Given the description of an element on the screen output the (x, y) to click on. 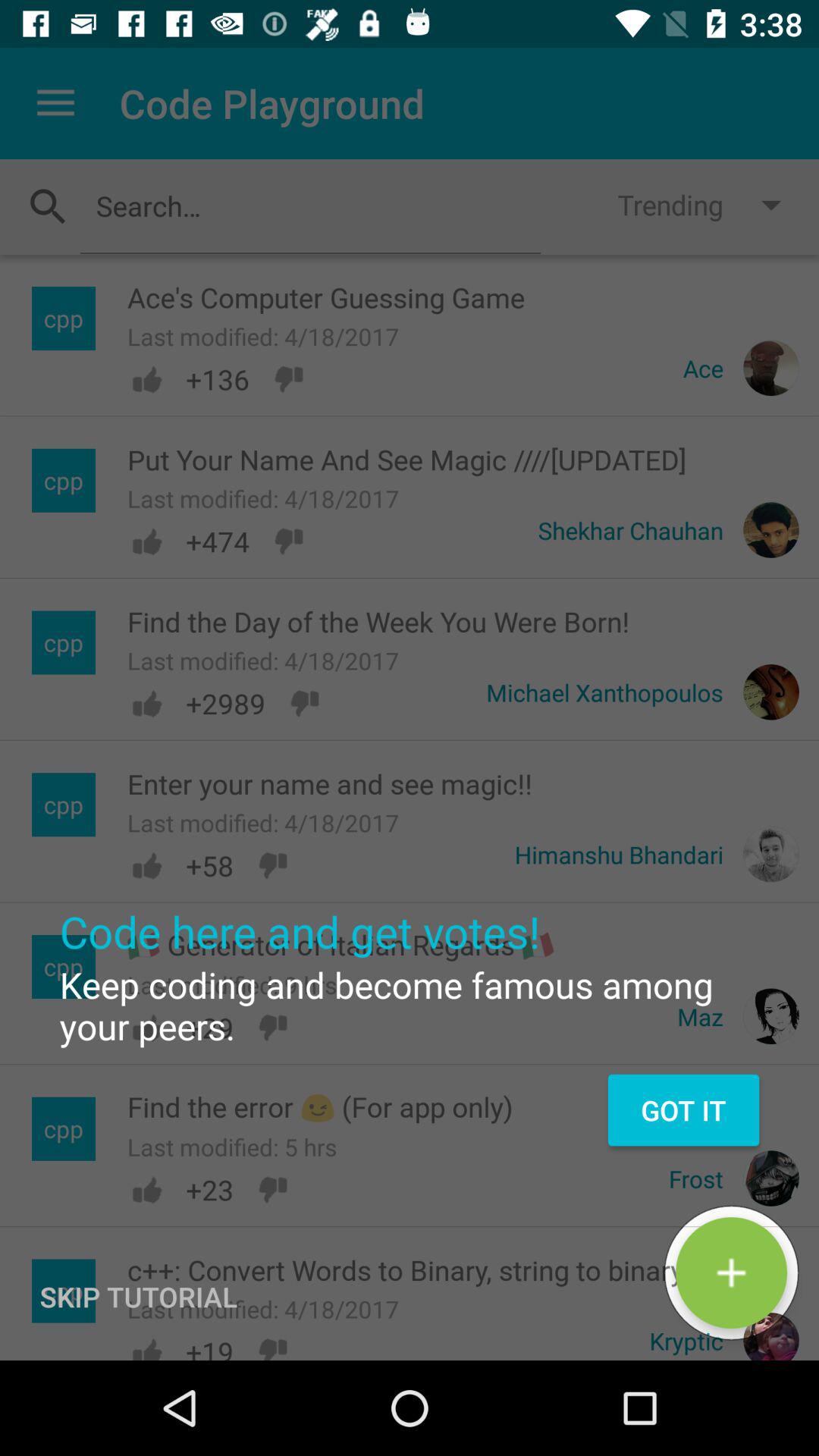
toggles option to put words into the search bar (310, 205)
